Given the description of an element on the screen output the (x, y) to click on. 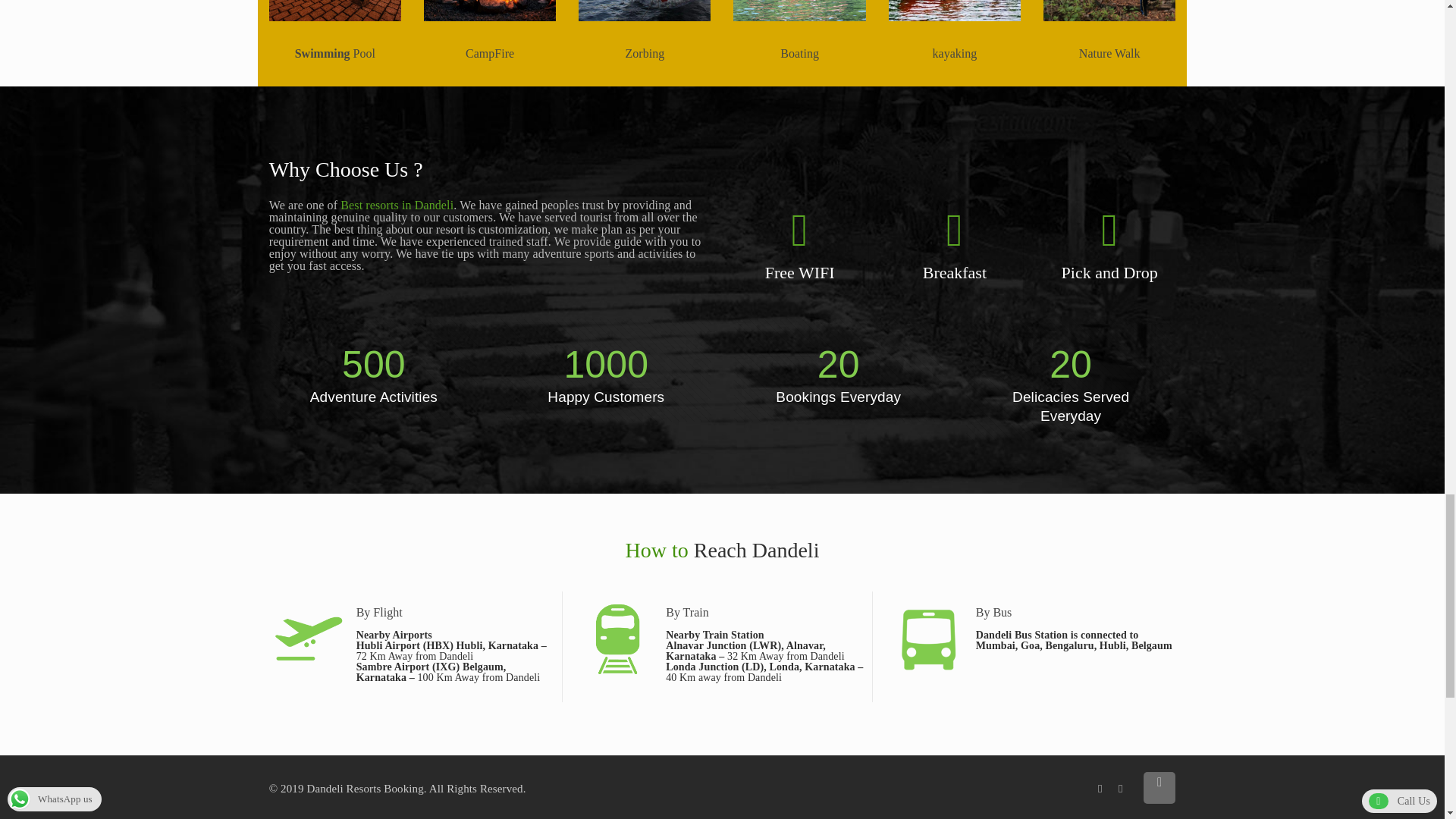
Best resorts in Dandeli (396, 205)
swimming pool (335, 10)
campfire-in-dandeli-cost (489, 10)
